Given the description of an element on the screen output the (x, y) to click on. 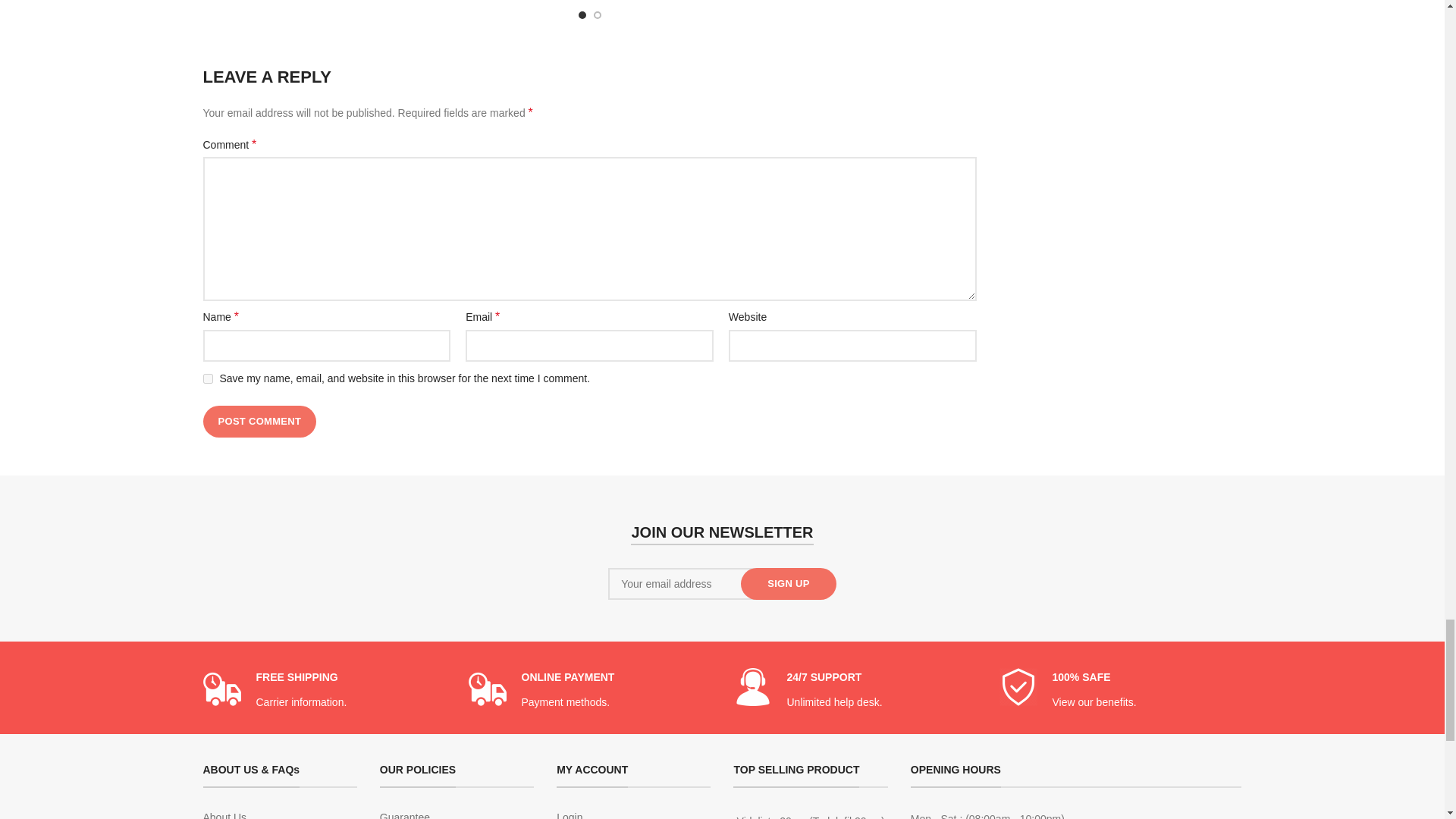
yes (207, 378)
Sign up (788, 583)
Post Comment (260, 421)
